Given the description of an element on the screen output the (x, y) to click on. 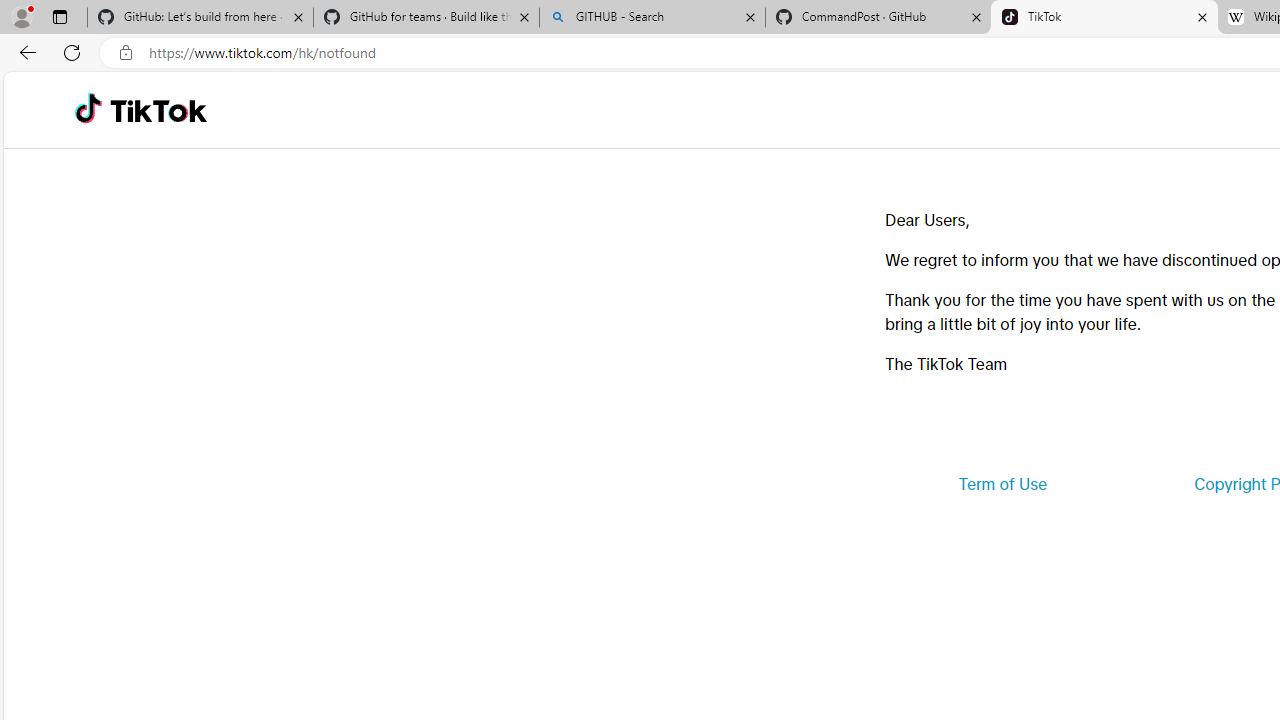
TikTok (1104, 17)
Term of Use (1002, 484)
TikTok (158, 110)
GITHUB - Search (652, 17)
